Given the description of an element on the screen output the (x, y) to click on. 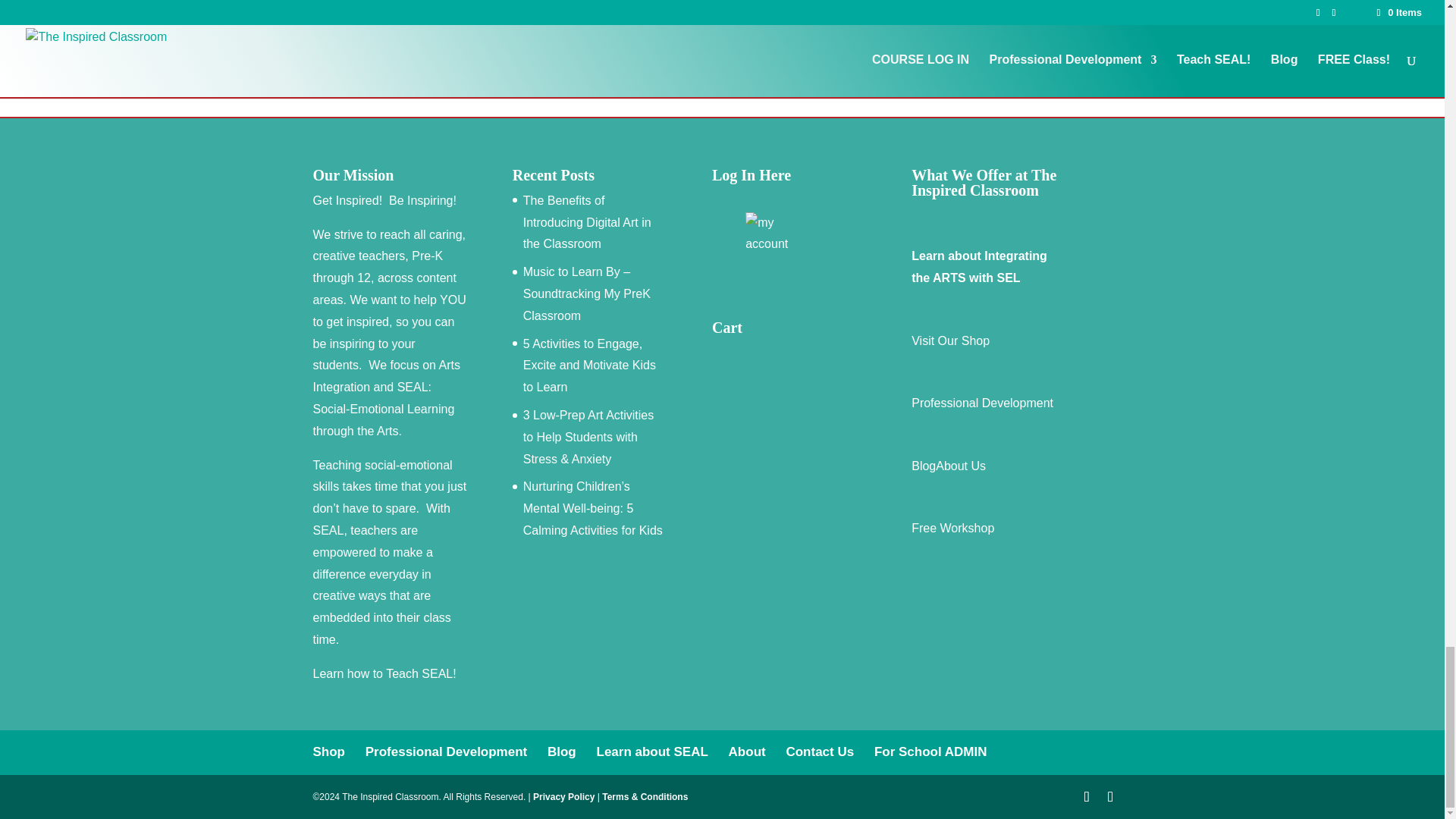
The Benefits of Introducing Digital Art in the Classroom (586, 222)
5 Activities to Engage, Excite and Motivate Kids to Learn (589, 365)
Teach SEAL! (421, 673)
